Given the description of an element on the screen output the (x, y) to click on. 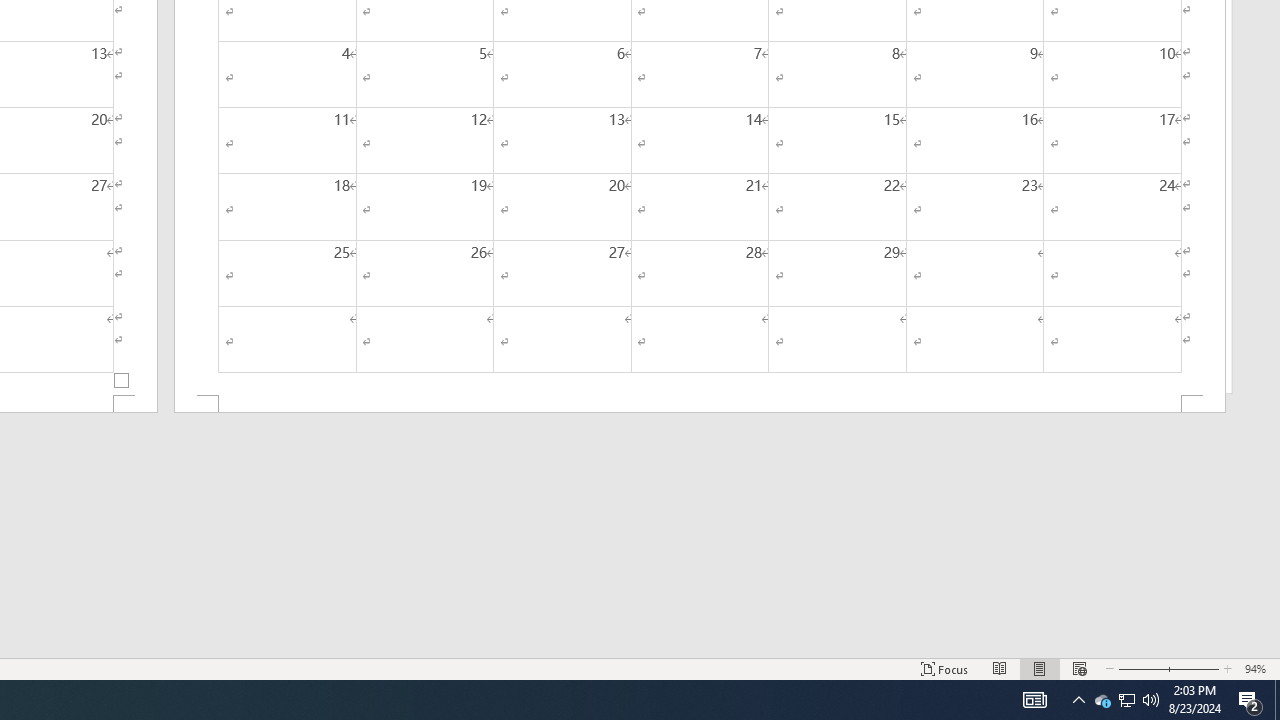
User Promoted Notification Area (1126, 699)
Q2790: 100% (1151, 699)
Read Mode (1000, 668)
Print Layout (1039, 668)
Zoom Out (1140, 668)
Focus  (944, 668)
Show desktop (1277, 699)
Web Layout (1079, 668)
Footer -Section 2- (700, 404)
AutomationID: 4105 (1034, 699)
Notification Chevron (1078, 699)
